Given the description of an element on the screen output the (x, y) to click on. 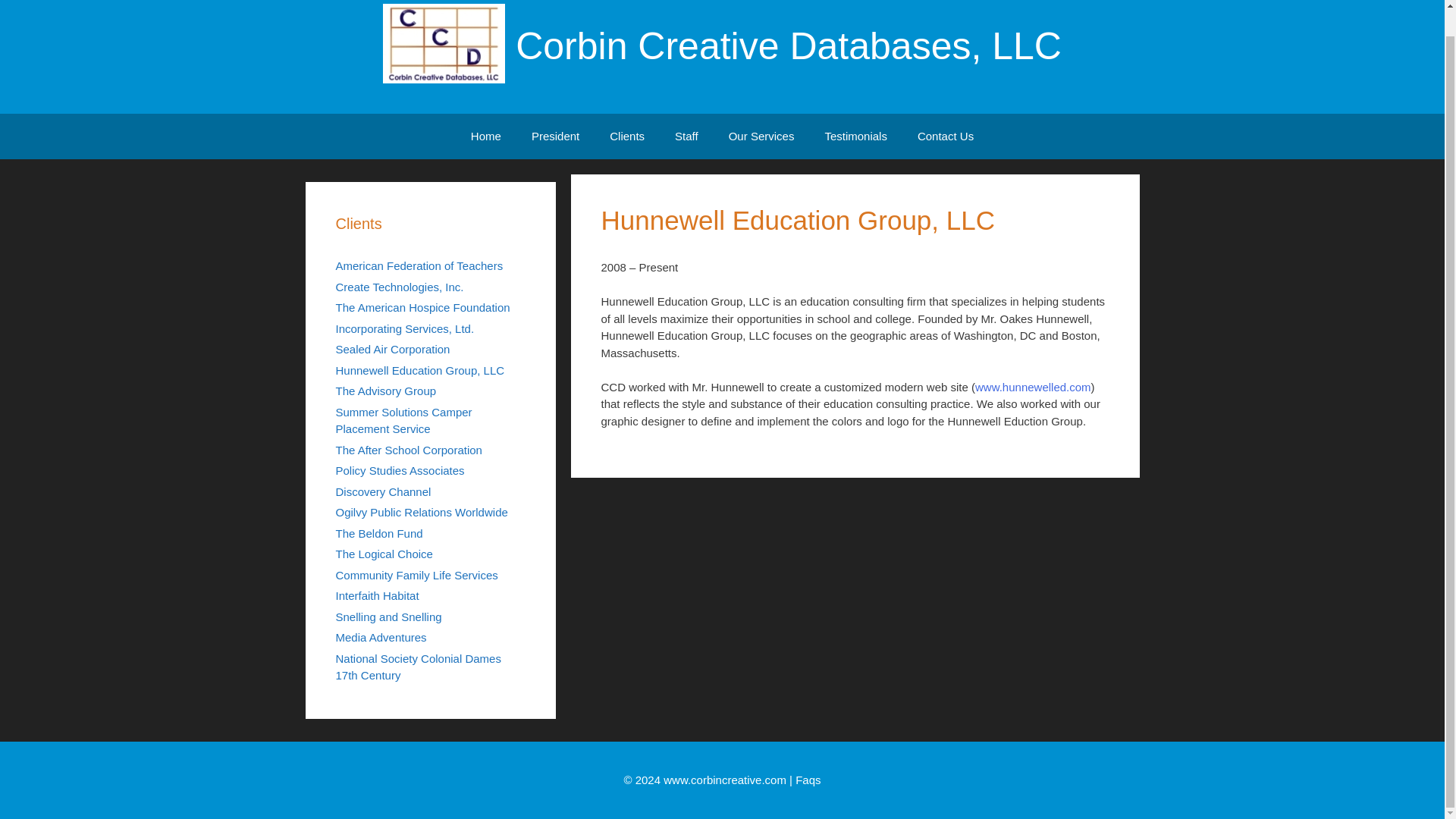
Incorporating Services, Ltd. (404, 328)
Interfaith Habitat (376, 594)
Discovery Channel (382, 490)
Contact Us (945, 135)
Corbin Creative Databases, LLC (443, 43)
Corbin Creative Databases, LLC (443, 42)
The Beldon Fund (378, 533)
Corbin Creative Databases, LLC (788, 46)
President (555, 135)
Faqs (807, 779)
Skip to content (342, 122)
Corbin Creative Databases, LLC (788, 46)
Snelling and Snelling (387, 616)
Our Services (761, 135)
The Logical Choice (383, 553)
